Given the description of an element on the screen output the (x, y) to click on. 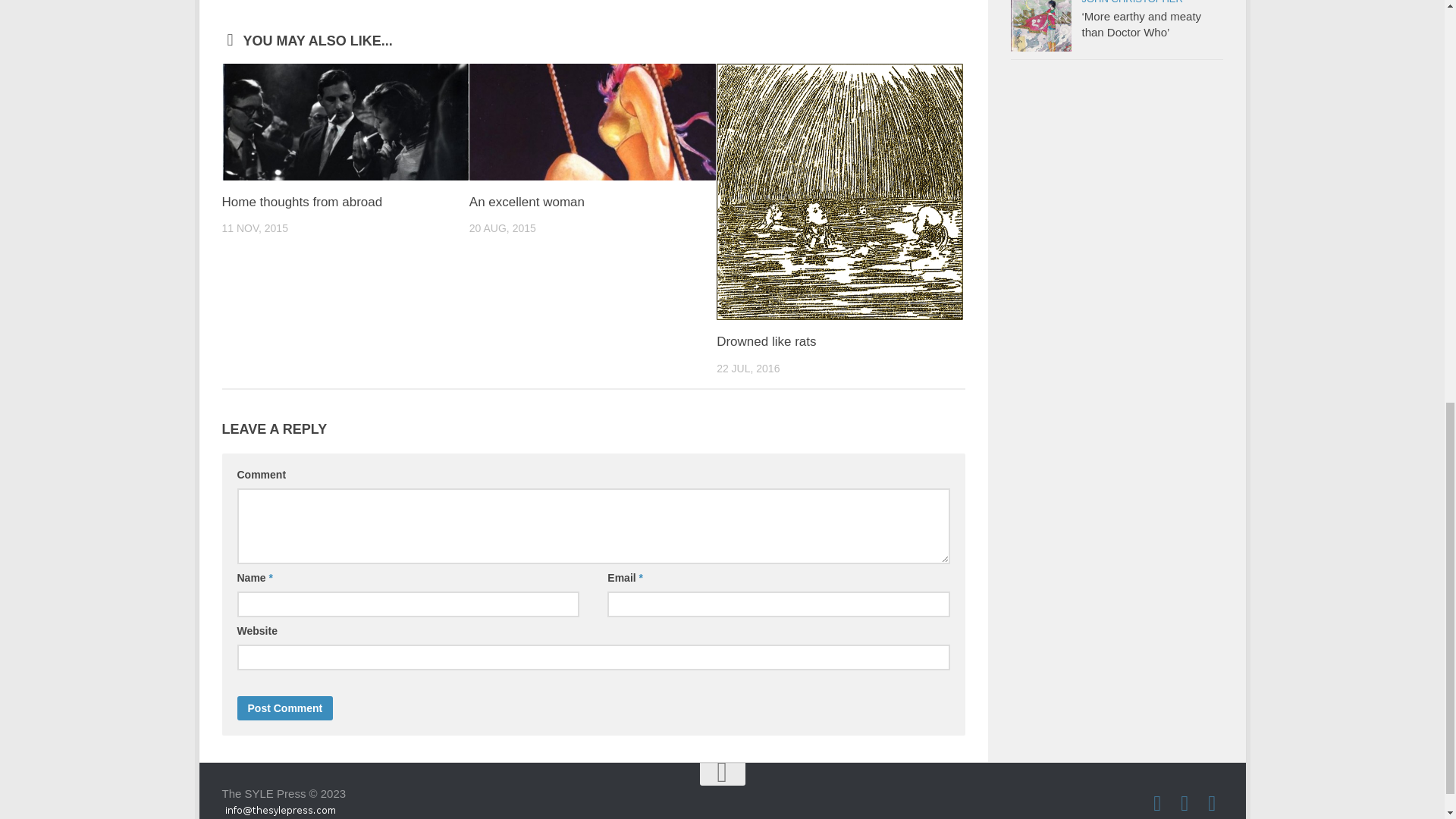
Home thoughts from abroad (301, 201)
An excellent woman (592, 121)
Home thoughts from abroad (344, 121)
Drowned like rats (765, 341)
Post Comment (284, 708)
Drowned like rats (839, 191)
An excellent woman (526, 201)
An excellent woman (526, 201)
Post Comment (284, 708)
Home thoughts from abroad (301, 201)
